Given the description of an element on the screen output the (x, y) to click on. 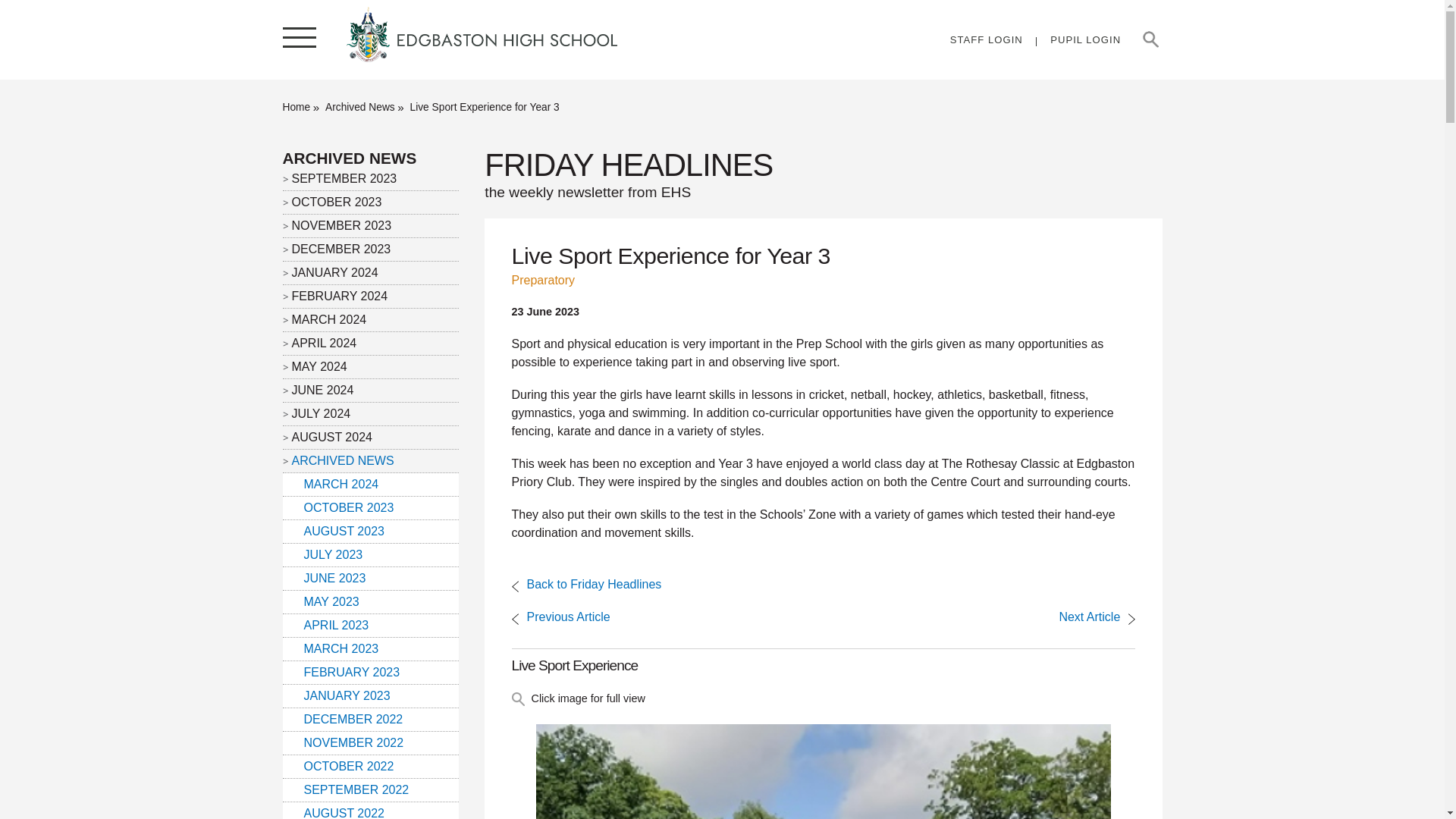
DECEMBER 2023 (370, 249)
AUGUST 2023 (370, 531)
Home (301, 107)
Open menu (298, 40)
Next Article (1096, 616)
APRIL 2024 (370, 343)
JUNE 2024 (370, 390)
Search (1149, 39)
MARCH 2024 (370, 319)
NOVEMBER 2023 (370, 225)
